Given the description of an element on the screen output the (x, y) to click on. 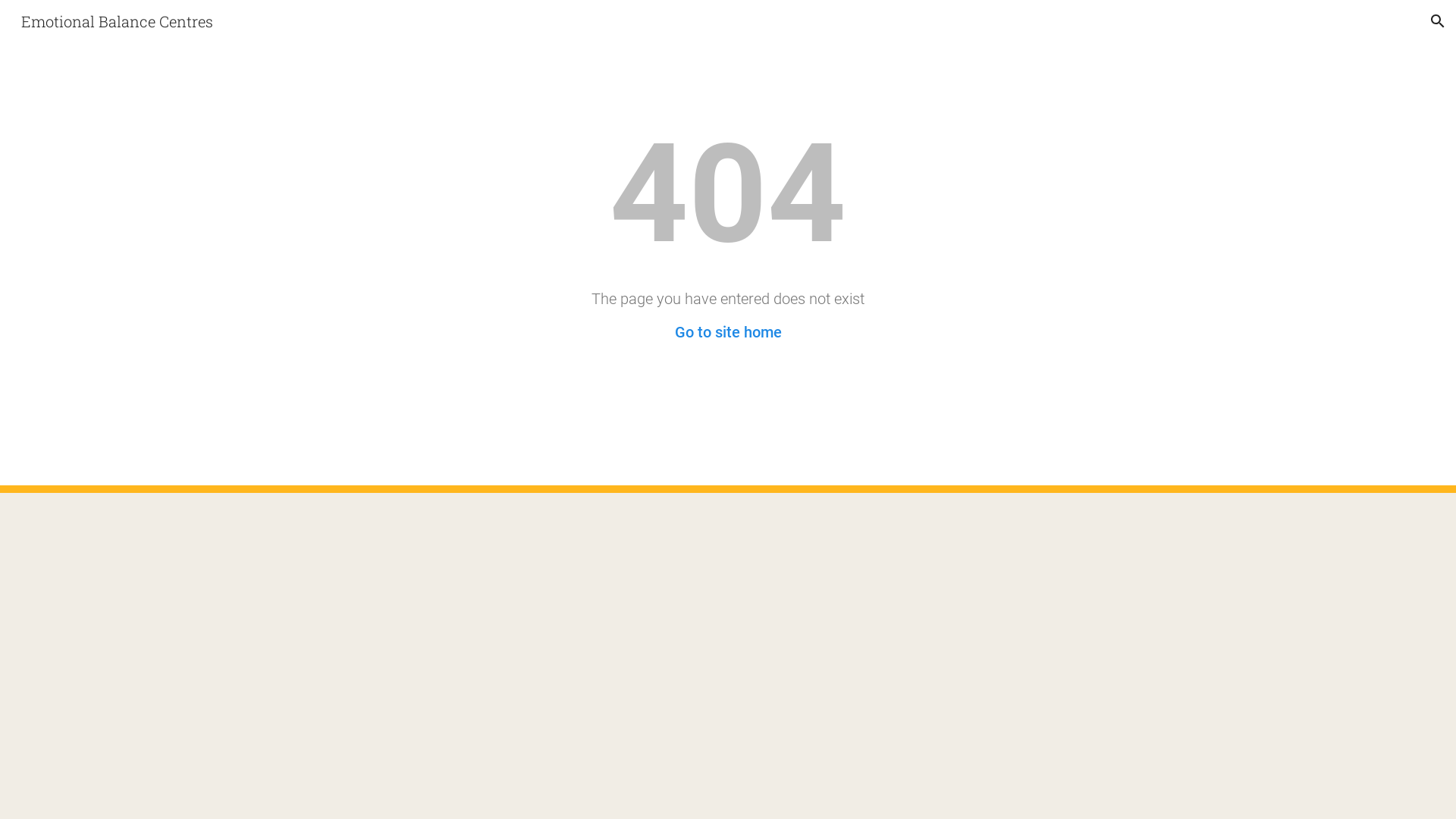
Go to site home Element type: text (727, 332)
Emotional Balance Centres Element type: text (117, 18)
